Given the description of an element on the screen output the (x, y) to click on. 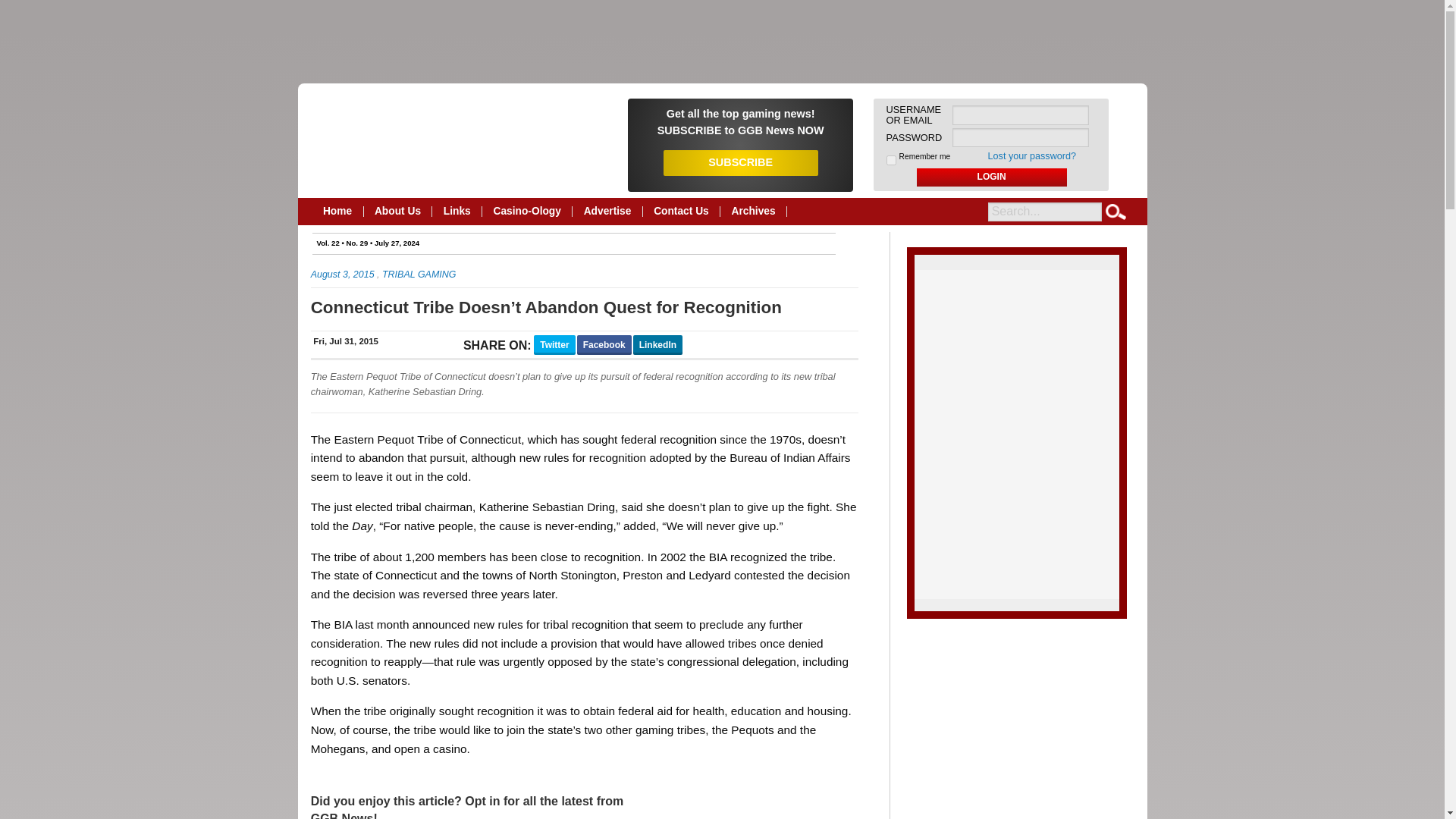
Login (992, 177)
Login (992, 177)
Lost your password? (1032, 155)
Casino-Ology (526, 211)
1 (891, 160)
August 3, 2015 (342, 274)
Archives (753, 211)
Subscribe (740, 162)
Advertise (607, 211)
About Us (398, 211)
Subscribe (741, 121)
Contact Us (681, 211)
Facebook (603, 344)
TRIBAL GAMING (418, 274)
Get all the top gaming news! SUBSCRIBE to GGB News NOW (741, 121)
